Given the description of an element on the screen output the (x, y) to click on. 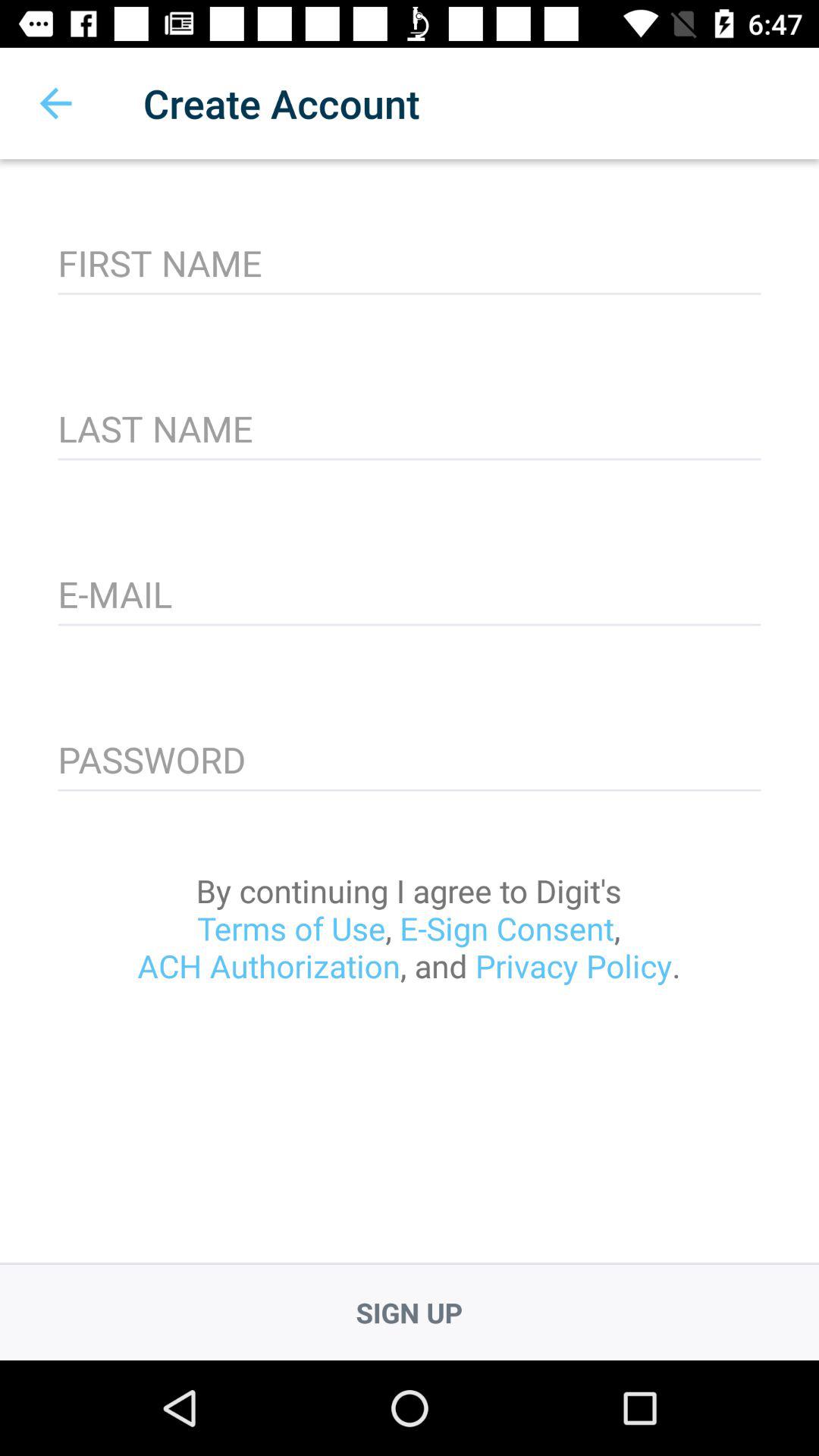
click the item to the left of create account icon (55, 103)
